Given the description of an element on the screen output the (x, y) to click on. 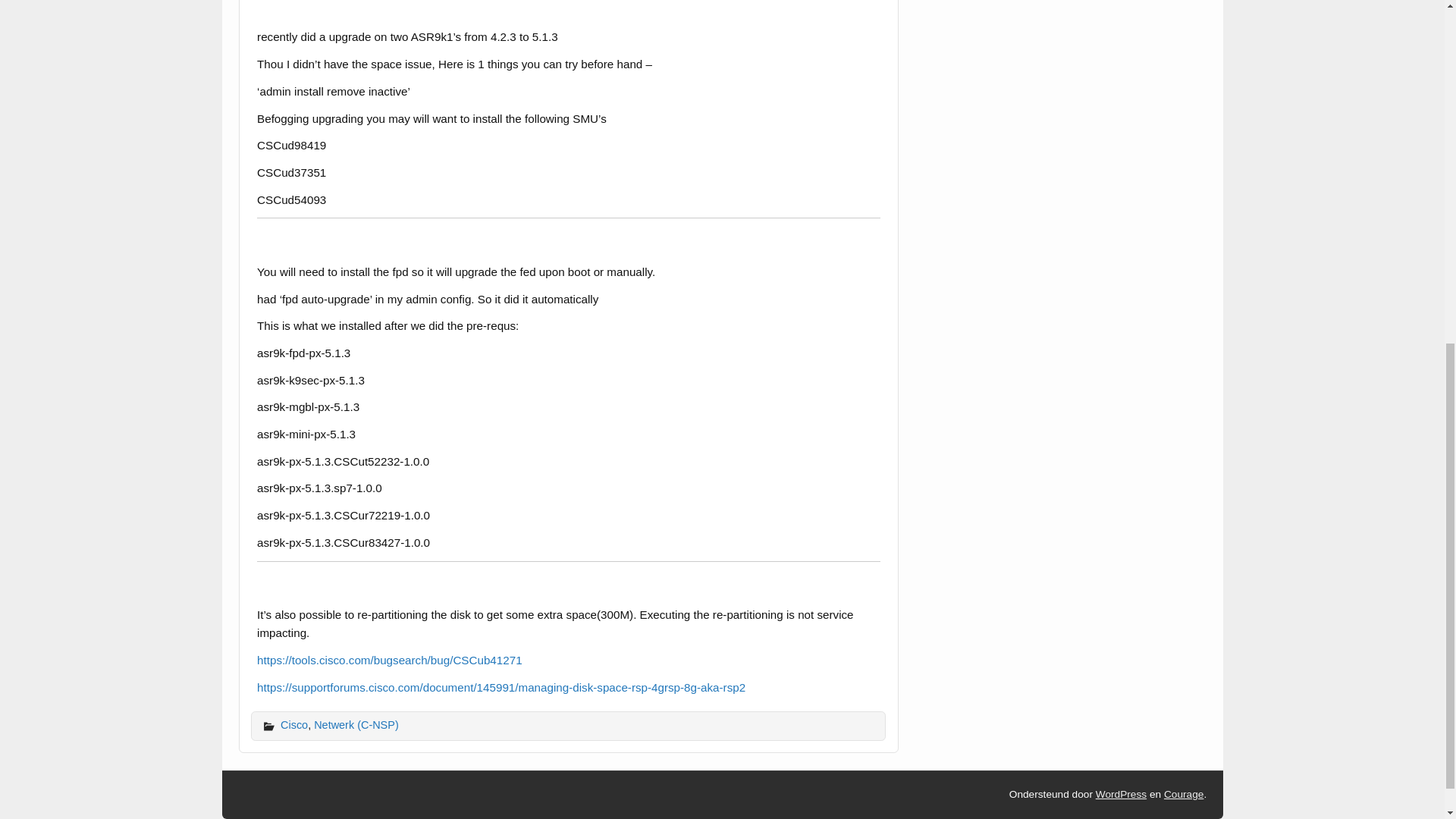
WordPress (1121, 794)
Cisco (294, 725)
Courage (1183, 794)
Courage WordPress Theme (1183, 794)
WordPress (1121, 794)
